Given the description of an element on the screen output the (x, y) to click on. 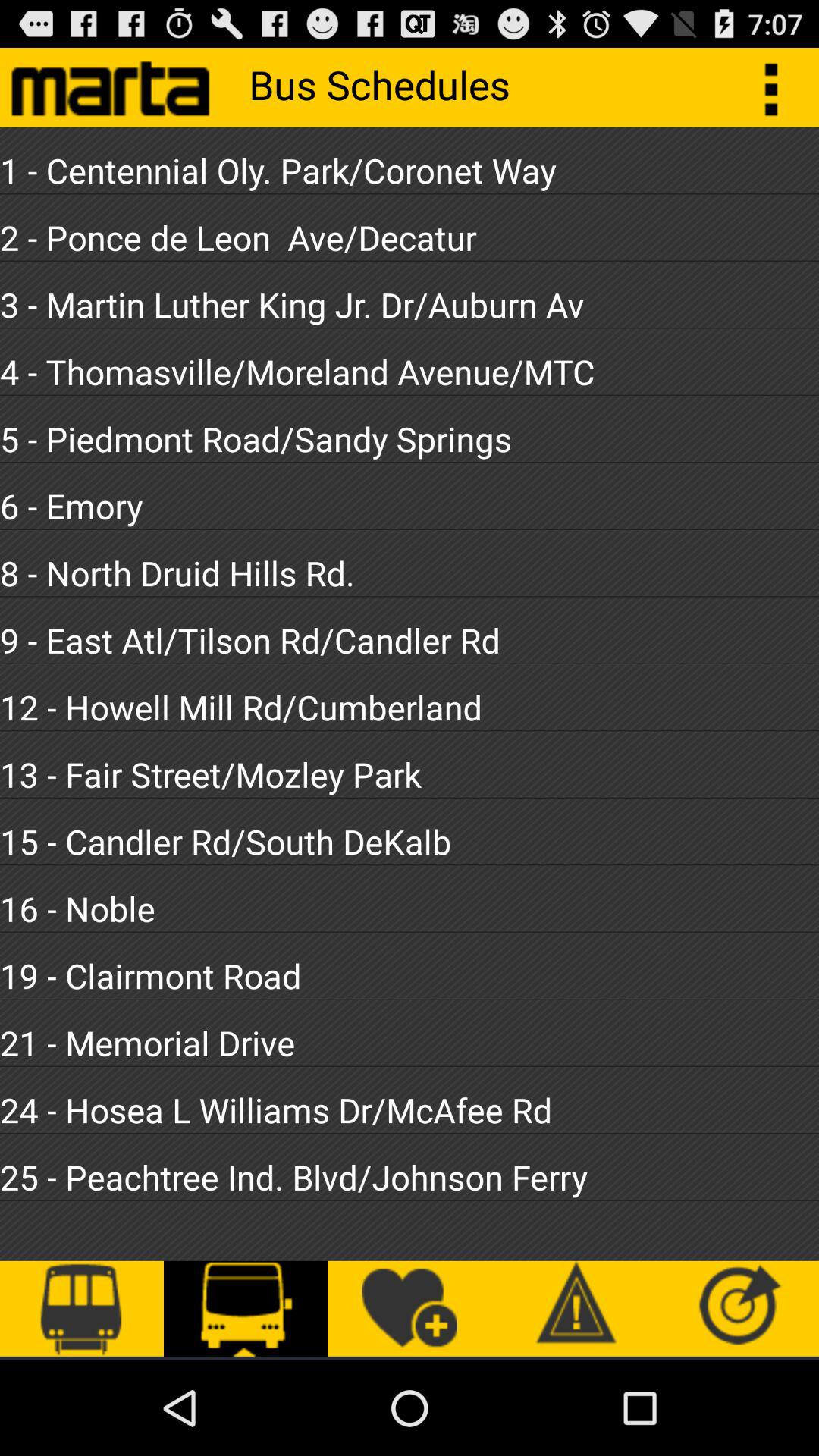
click on the warining symbol icon (573, 1308)
